Given the description of an element on the screen output the (x, y) to click on. 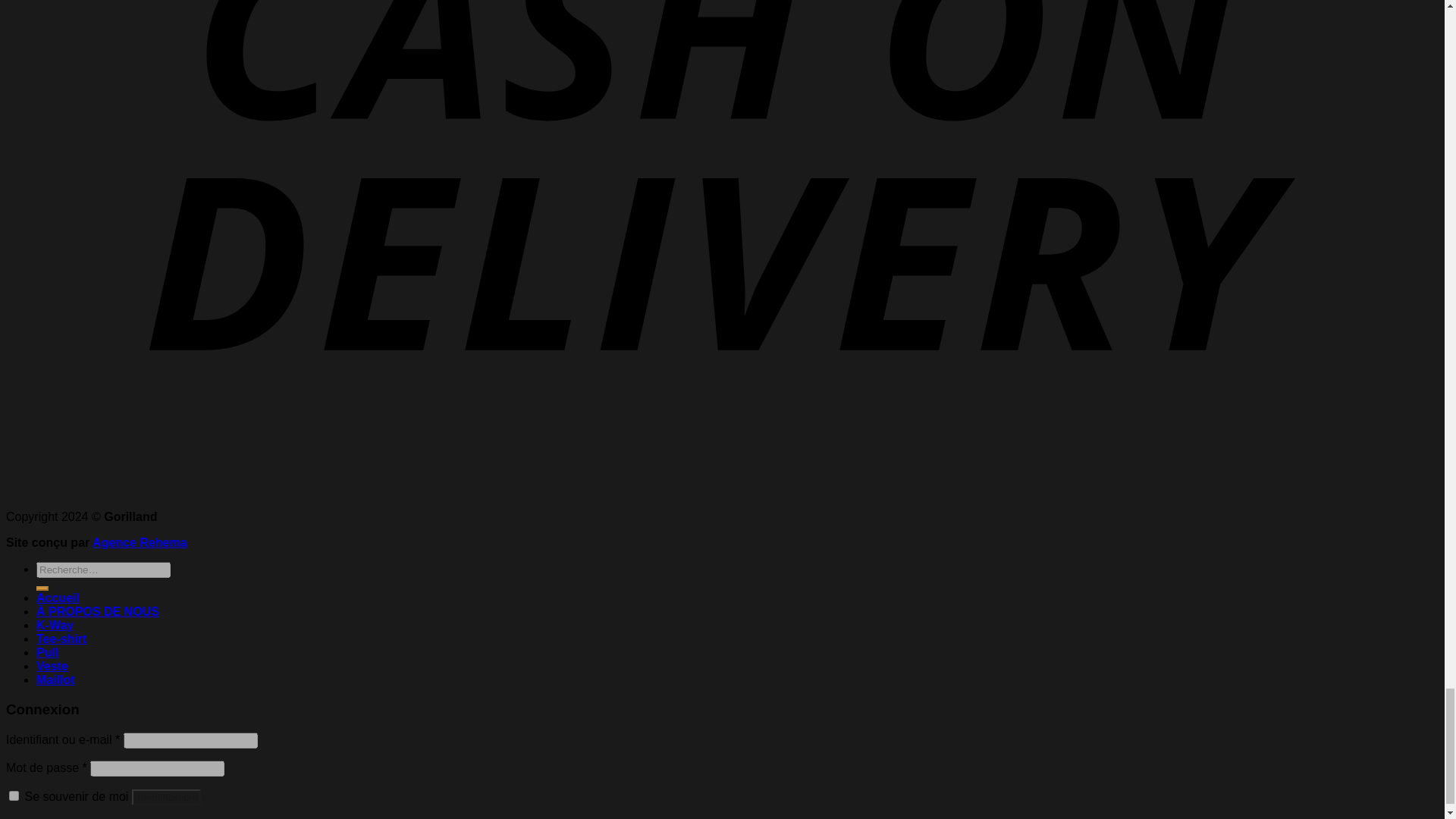
forever (13, 795)
